Given the description of an element on the screen output the (x, y) to click on. 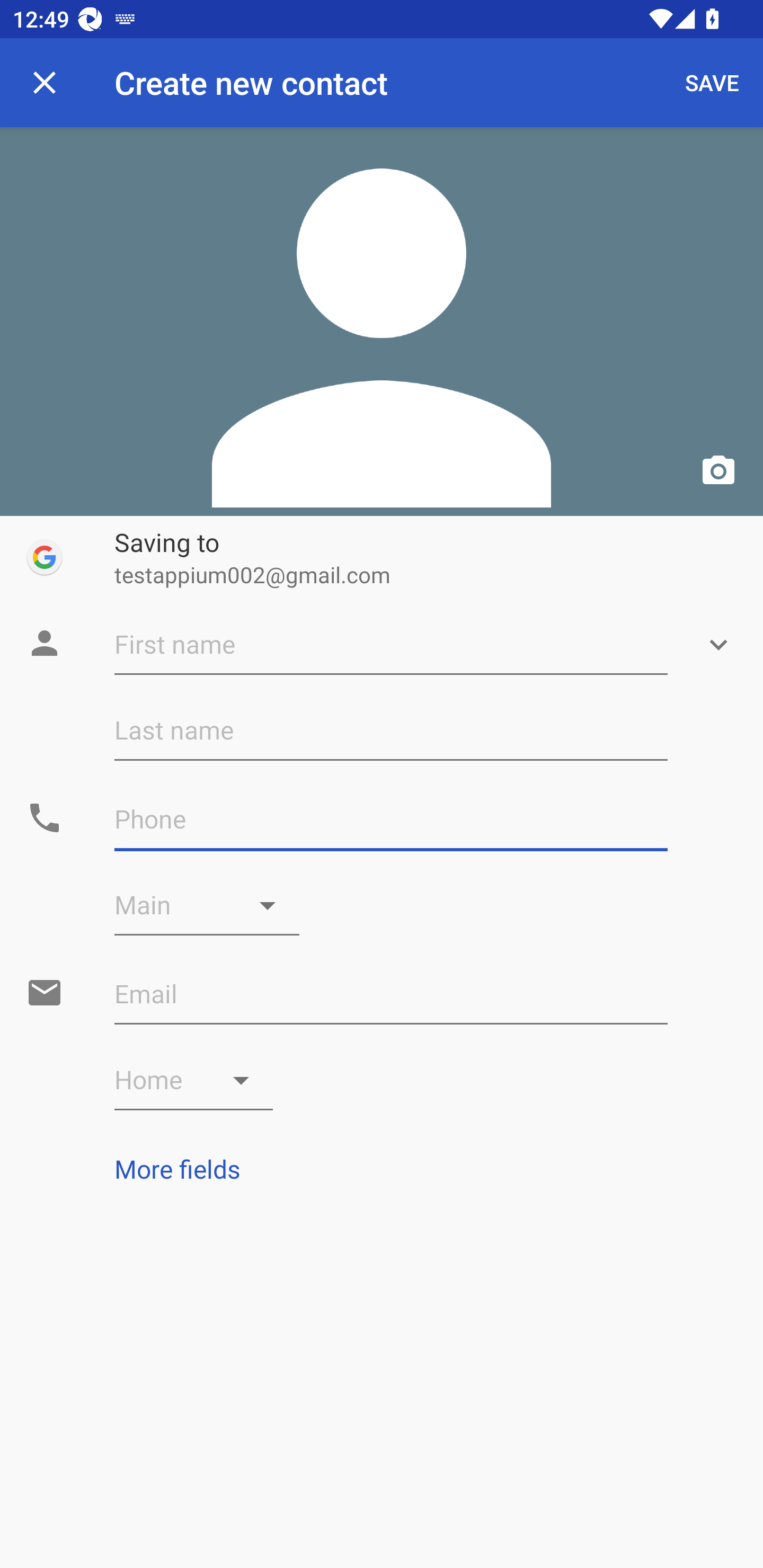
Cancel (44, 82)
SAVE (712, 82)
Add contact photo (381, 321)
First name (390, 645)
Show more name fields (718, 645)
Last name (390, 730)
Phone (390, 819)
Phone Main (206, 905)
Email (390, 993)
Email Home (193, 1079)
More fields (381, 1168)
